Given the description of an element on the screen output the (x, y) to click on. 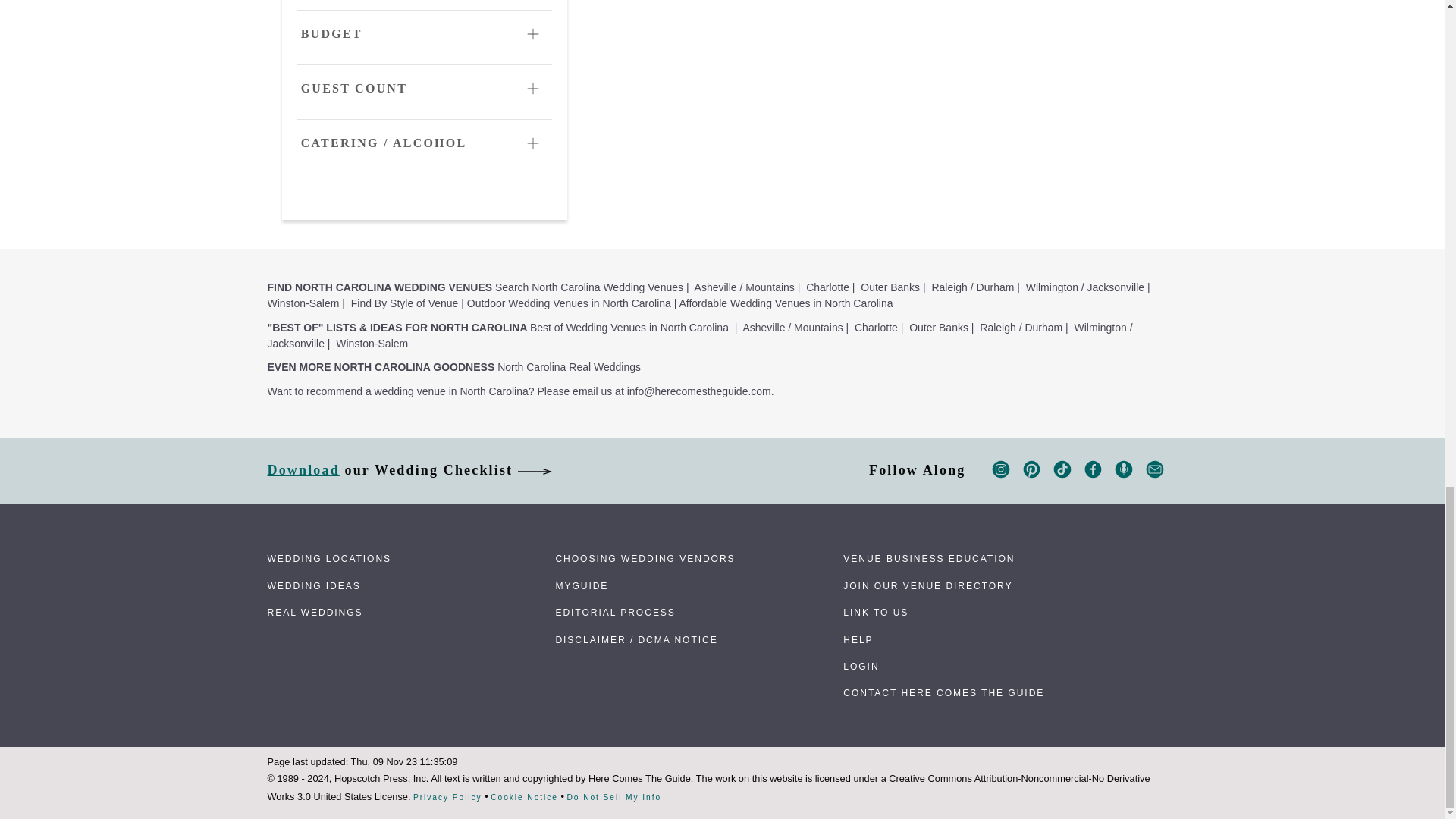
See All Outer Banks Wedding Venues (890, 287)
See Best of Charlotte Wedding Venues (876, 327)
See Best of North Carolina Wedding Venues (629, 327)
See All Winston-Salem Wedding Venues (302, 303)
See All Charlotte Wedding Venues (827, 287)
Search North Carolina Wedding Venues (588, 287)
See Best of Outer Banks Wedding Venues (938, 327)
See Best of Winston-Salem Wedding Venues (371, 343)
Real North Carolina Weddings (568, 367)
